Given the description of an element on the screen output the (x, y) to click on. 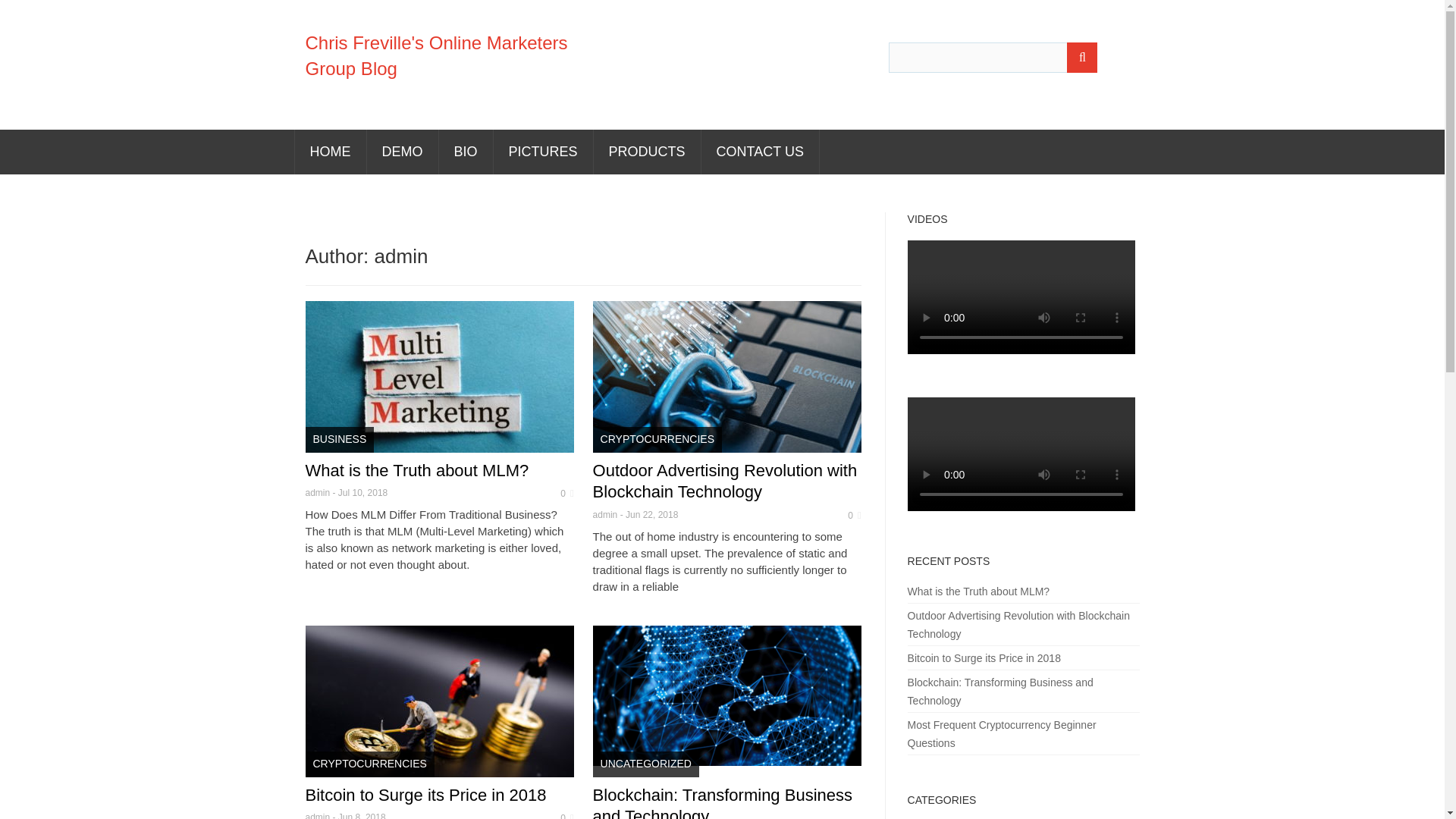
HOME (329, 151)
Posts by admin (604, 514)
Posts by admin (317, 815)
Outdoor Advertising Revolution with Blockchain Technology (724, 481)
BUSINESS (339, 439)
Permanent Link to What is the Truth about MLM? (416, 470)
admin (317, 492)
BIO (465, 151)
What is the Truth about MLM? (416, 470)
admin (317, 815)
Bitcoin to Surge its Price in 2018 (425, 794)
Blockchain: Transforming Business and Technology (721, 802)
PRODUCTS (647, 151)
Permanent Link to Bitcoin to Surge its Price in 2018 (425, 794)
